Given the description of an element on the screen output the (x, y) to click on. 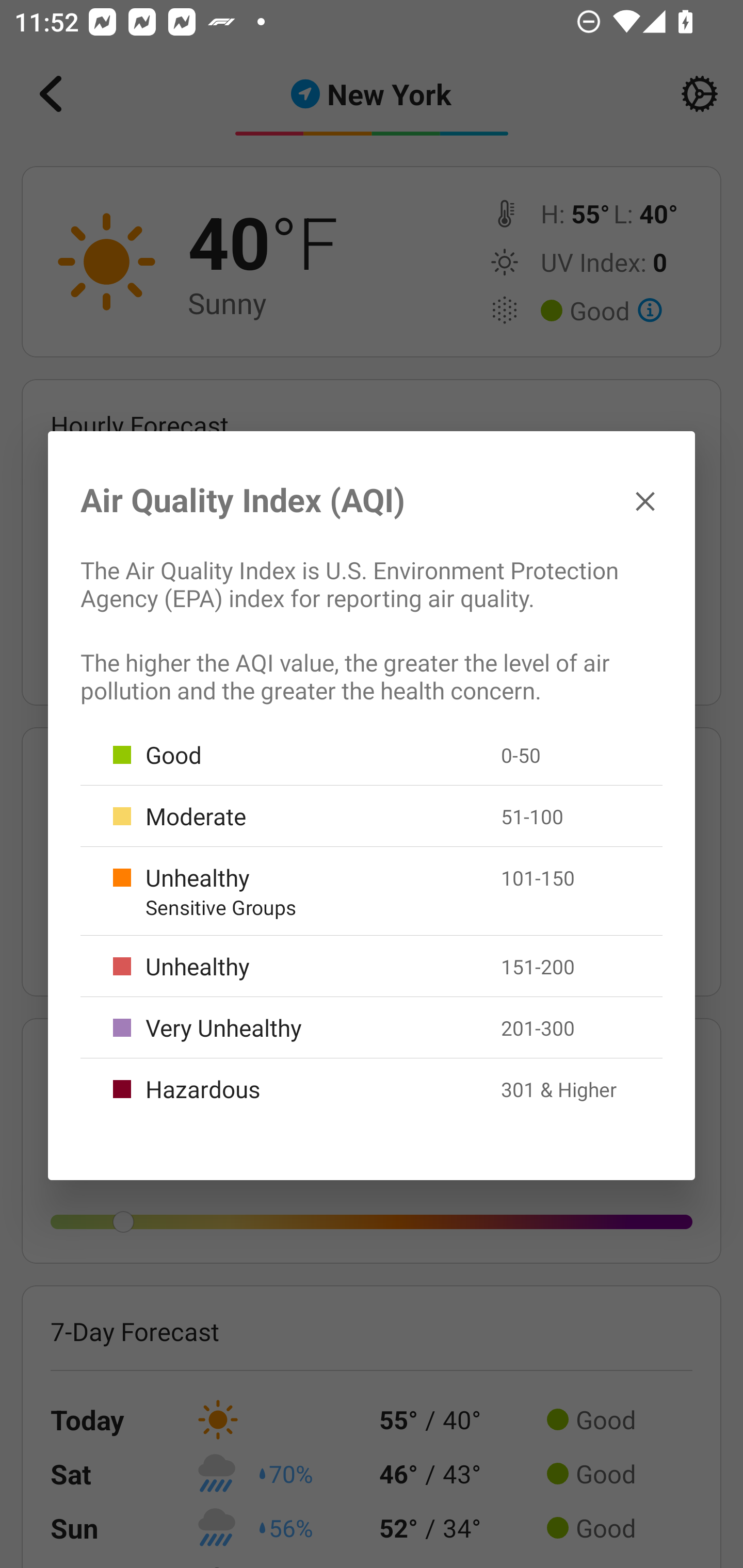
✕ (644, 499)
